Given the description of an element on the screen output the (x, y) to click on. 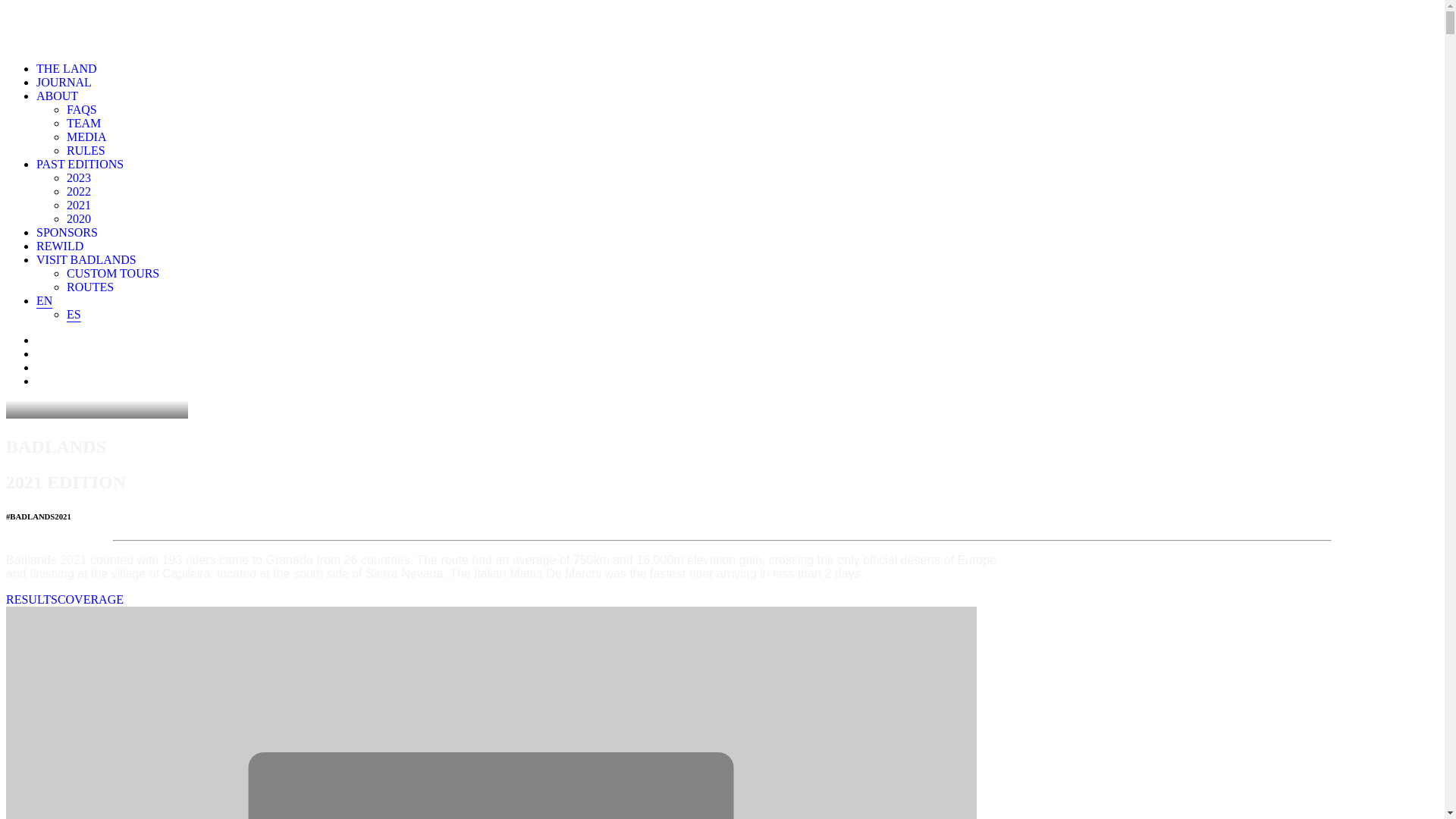
ROUTES Element type: text (89, 286)
2020 Element type: text (78, 218)
2023 Element type: text (78, 177)
THE LAND Element type: text (66, 68)
REWILD Element type: text (59, 245)
CUSTOM TOURS Element type: text (112, 272)
ES Element type: text (73, 313)
ABOUT Element type: text (57, 95)
2022 Element type: text (78, 191)
RULES Element type: text (85, 150)
EN Element type: text (44, 300)
JOURNAL Element type: text (63, 81)
PAST EDITIONS Element type: text (79, 163)
2021 Element type: text (78, 204)
RESULTS Element type: text (31, 599)
MEDIA Element type: text (86, 136)
FAQS Element type: text (81, 109)
TEAM Element type: text (83, 122)
COVERAGE Element type: text (90, 599)
SPONSORS Element type: text (66, 231)
VISIT BADLANDS Element type: text (86, 259)
